Given the description of an element on the screen output the (x, y) to click on. 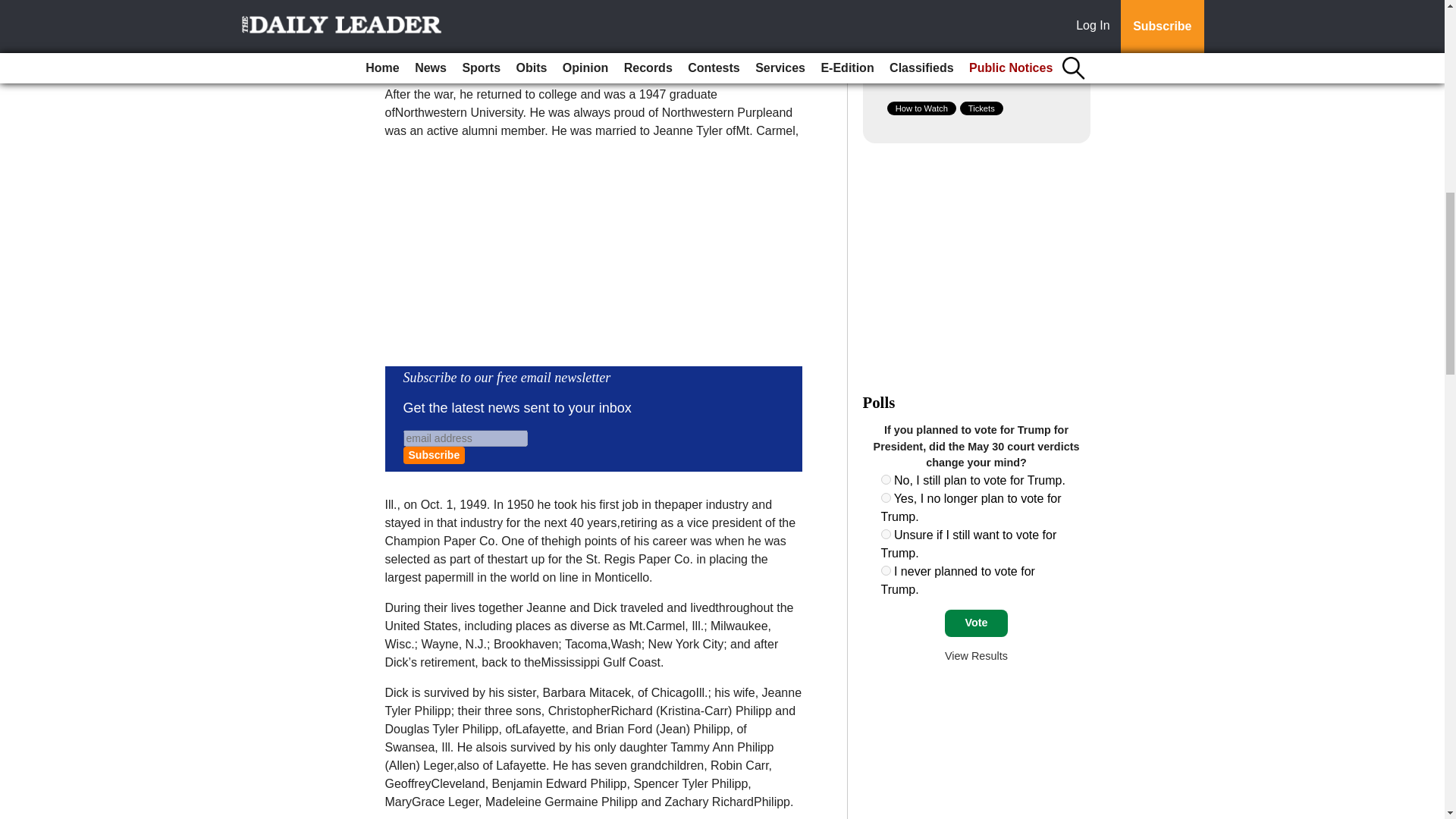
Subscribe (434, 455)
846 (885, 479)
   Vote    (975, 623)
How to Watch (921, 108)
Tickets (981, 108)
849 (885, 570)
Subscribe (434, 455)
848 (885, 533)
View Results Of This Poll (975, 654)
847 (885, 497)
